Given the description of an element on the screen output the (x, y) to click on. 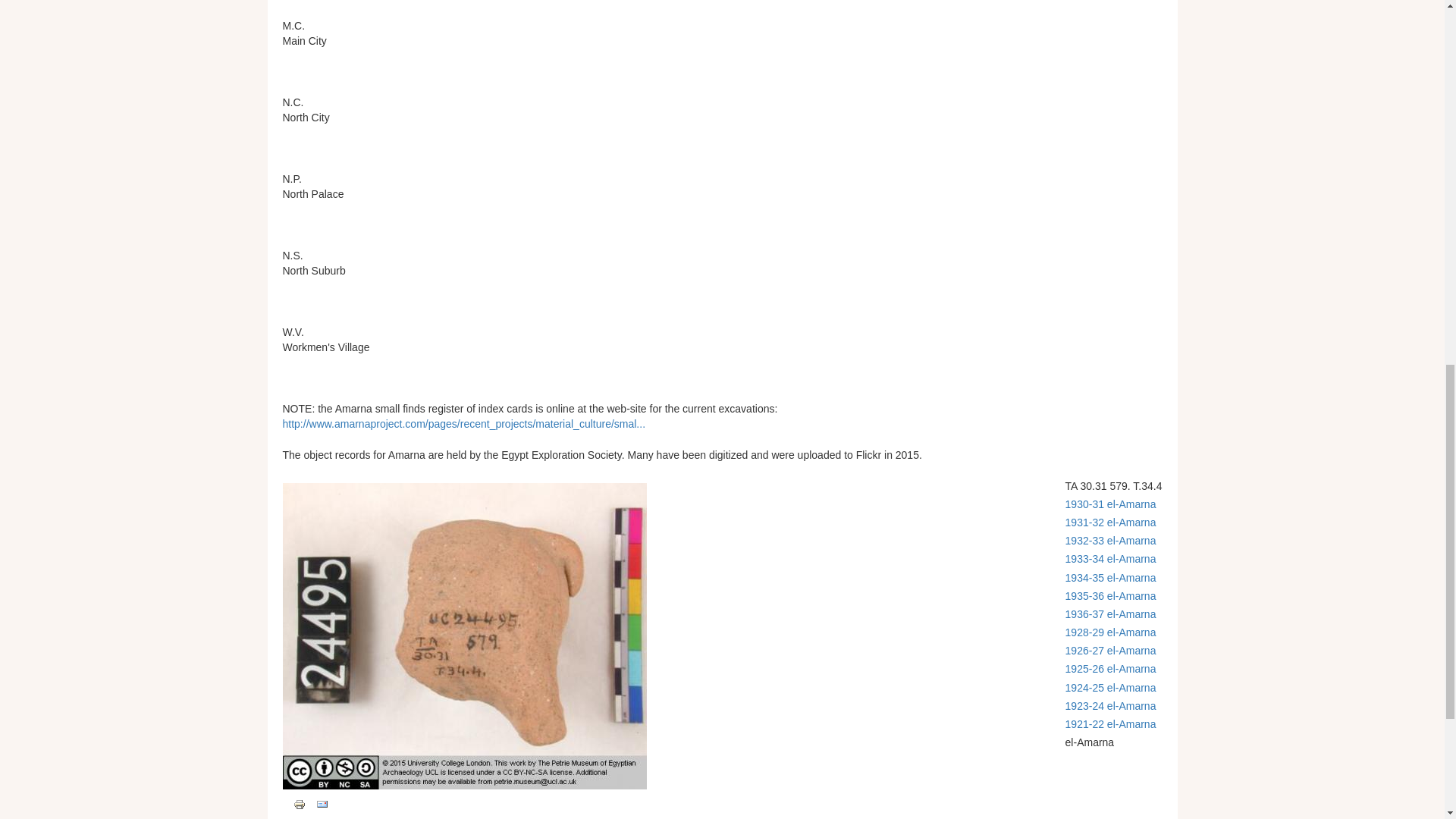
1923-24 el-Amarna (1110, 705)
Printer-friendly version (298, 804)
1925-26 el-Amarna (1110, 668)
1924-25 el-Amarna (1110, 687)
1921-22 el-Amarna (1110, 724)
1930-31 el-Amarna (1110, 503)
Send this page by email. (321, 803)
1935-36 el-Amarna (1110, 595)
1926-27 el-Amarna (1110, 650)
1933-34 el-Amarna (1110, 558)
1934-35 el-Amarna (1110, 577)
1936-37 el-Amarna (1110, 613)
1928-29 el-Amarna (1110, 632)
1932-33 el-Amarna (1110, 540)
Display a printer-friendly version of this page. (298, 803)
